Given the description of an element on the screen output the (x, y) to click on. 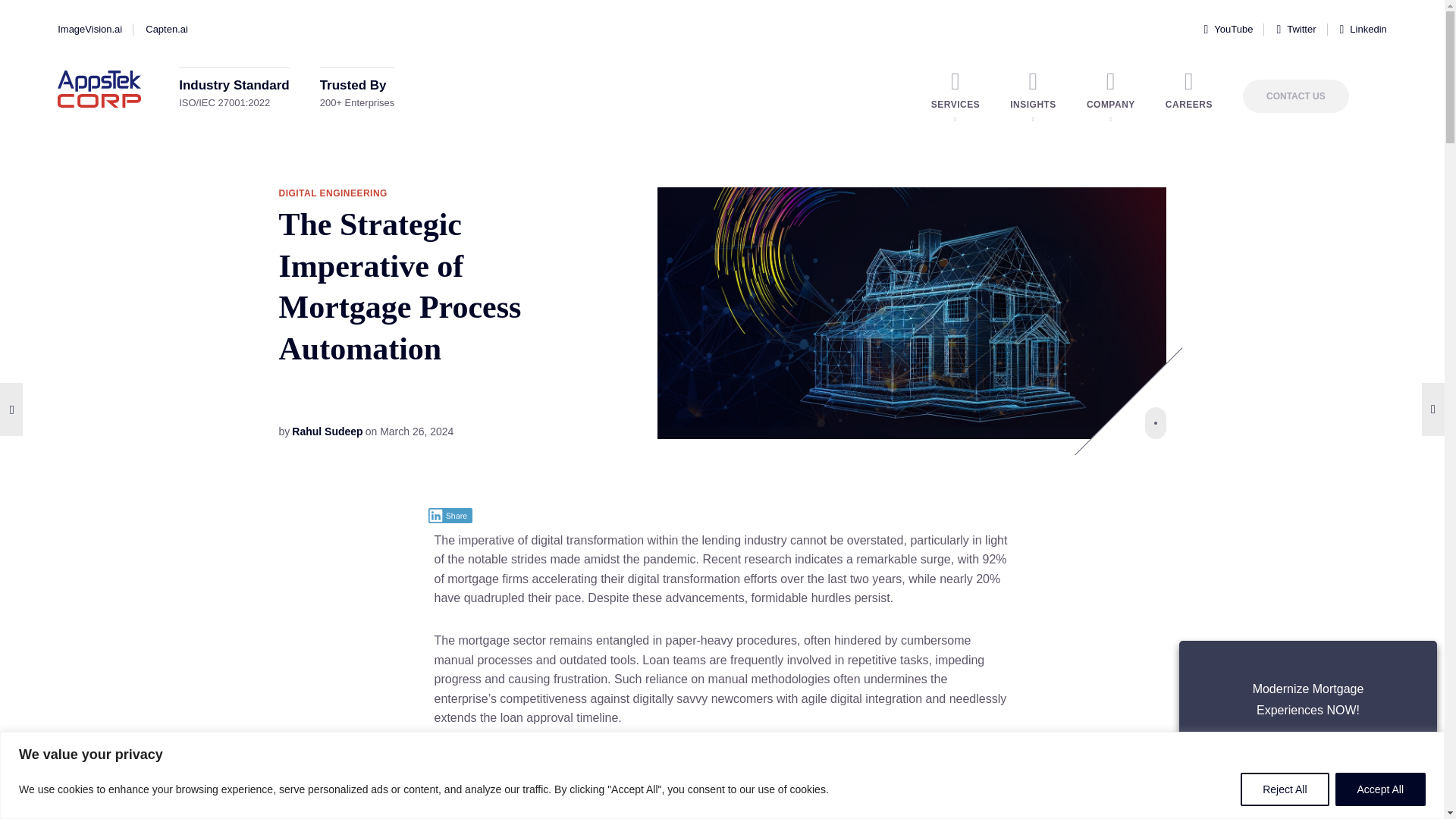
ImageVision.ai (90, 29)
Reject All (1283, 788)
Accept All (1380, 788)
SERVICES (955, 89)
Posts by Rahul Sudeep (327, 431)
Capten.ai (166, 29)
